Given the description of an element on the screen output the (x, y) to click on. 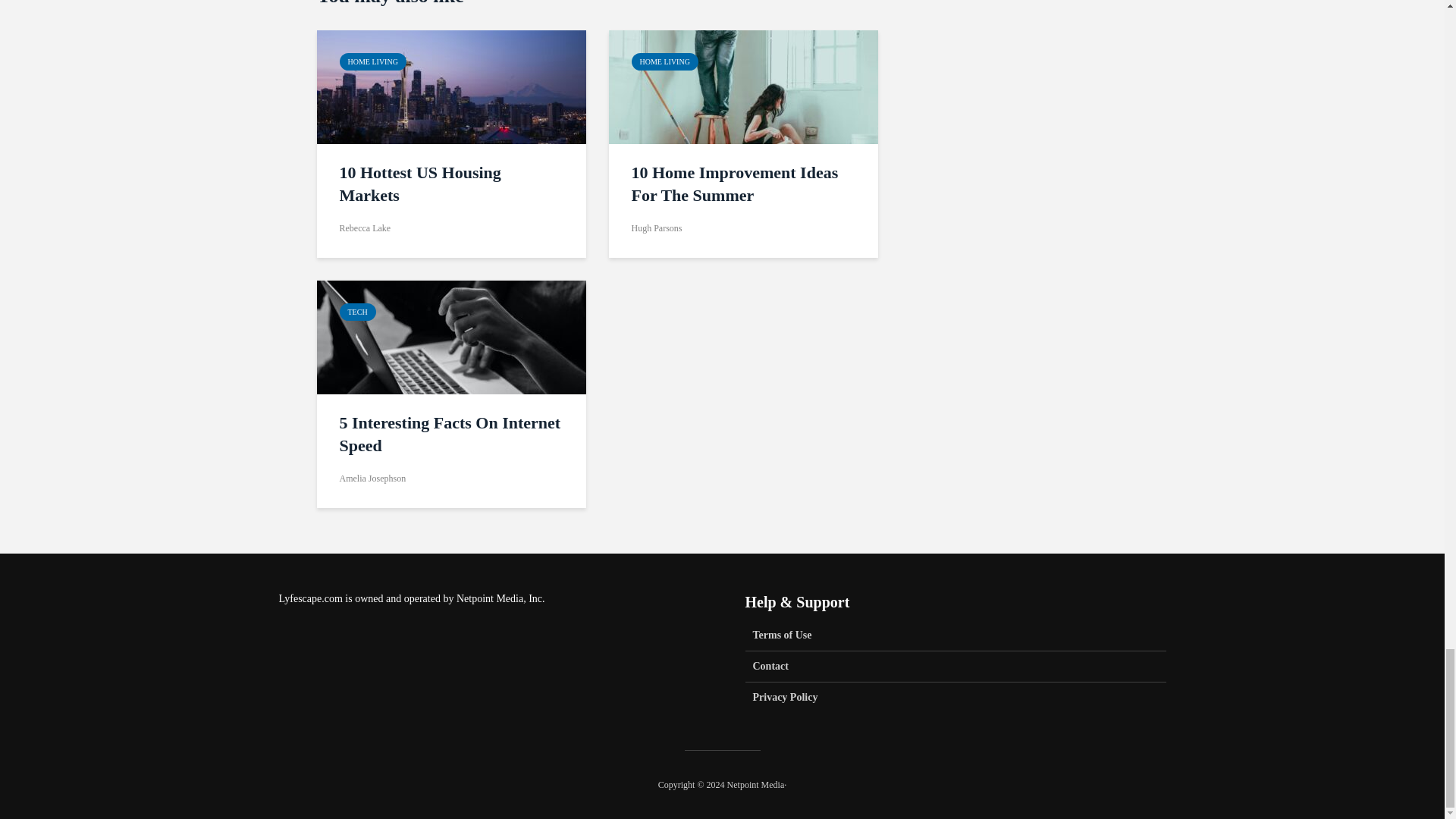
10 Home Improvement Ideas For The Summer (742, 85)
Rebecca Lake (365, 227)
10 Hottest US Housing Markets (451, 184)
HOME LIVING (663, 61)
TECH (357, 312)
HOME LIVING (372, 61)
10 Home Improvement Ideas For The Summer (742, 184)
Amelia Josephson (372, 478)
Terms of Use (955, 639)
10 Hottest US Housing Markets (451, 85)
Privacy Policy (955, 697)
5 Interesting Facts On Internet Speed (451, 336)
Hugh Parsons (655, 227)
5 Interesting Facts On Internet Speed (451, 434)
Contact (955, 666)
